Given the description of an element on the screen output the (x, y) to click on. 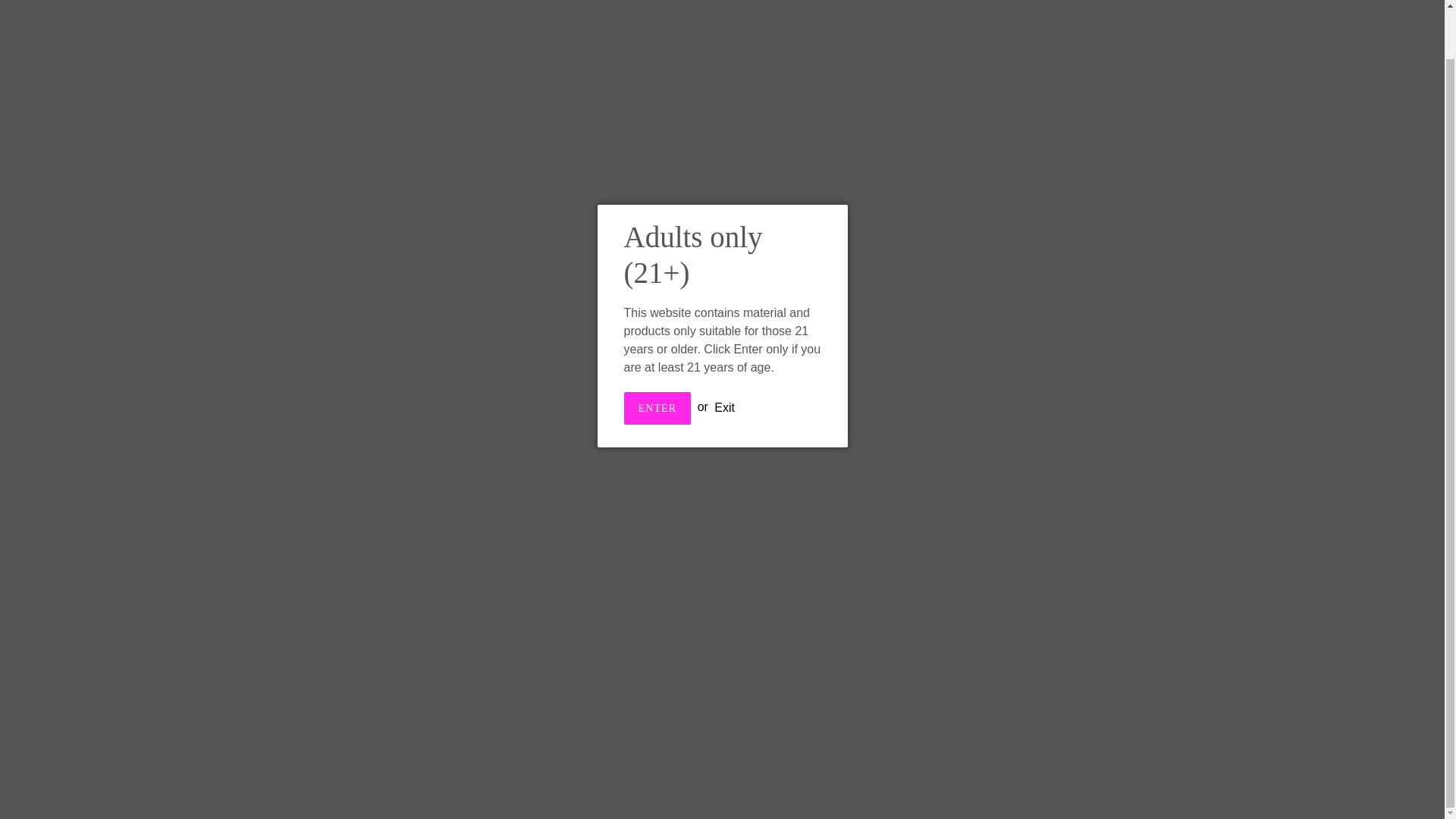
Affiliates (951, 5)
Cart (1387, 8)
Privacy Policy (564, 620)
Becoming The Stoney Babe.. (965, 521)
Shop (497, 5)
Boxes (553, 5)
Blog (1005, 5)
Subscriber Login (753, 5)
Refund Policy (564, 587)
Home (443, 5)
